Given the description of an element on the screen output the (x, y) to click on. 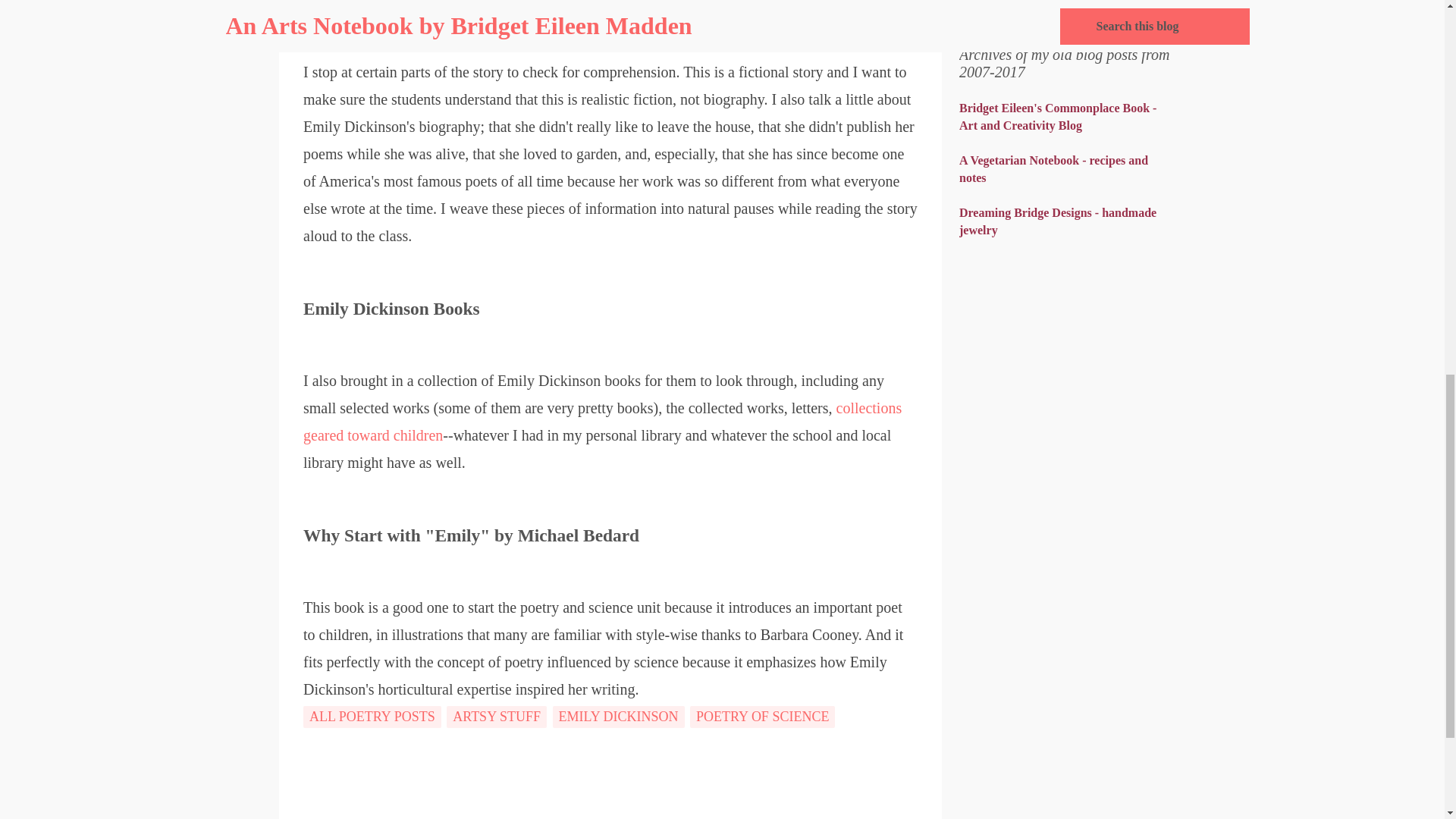
Search (985, 2)
Bridget Eileen's Commonplace Book - Art and Creativity Blog (1057, 116)
ARTSY STUFF (496, 716)
ALL POETRY POSTS (371, 716)
Dreaming Bridge Designs - handmade jewelry (1057, 221)
A Vegetarian Notebook - recipes and notes (1053, 168)
Search (985, 2)
collections geared toward children (601, 421)
EMILY DICKINSON (617, 716)
POETRY OF SCIENCE (762, 716)
